Given the description of an element on the screen output the (x, y) to click on. 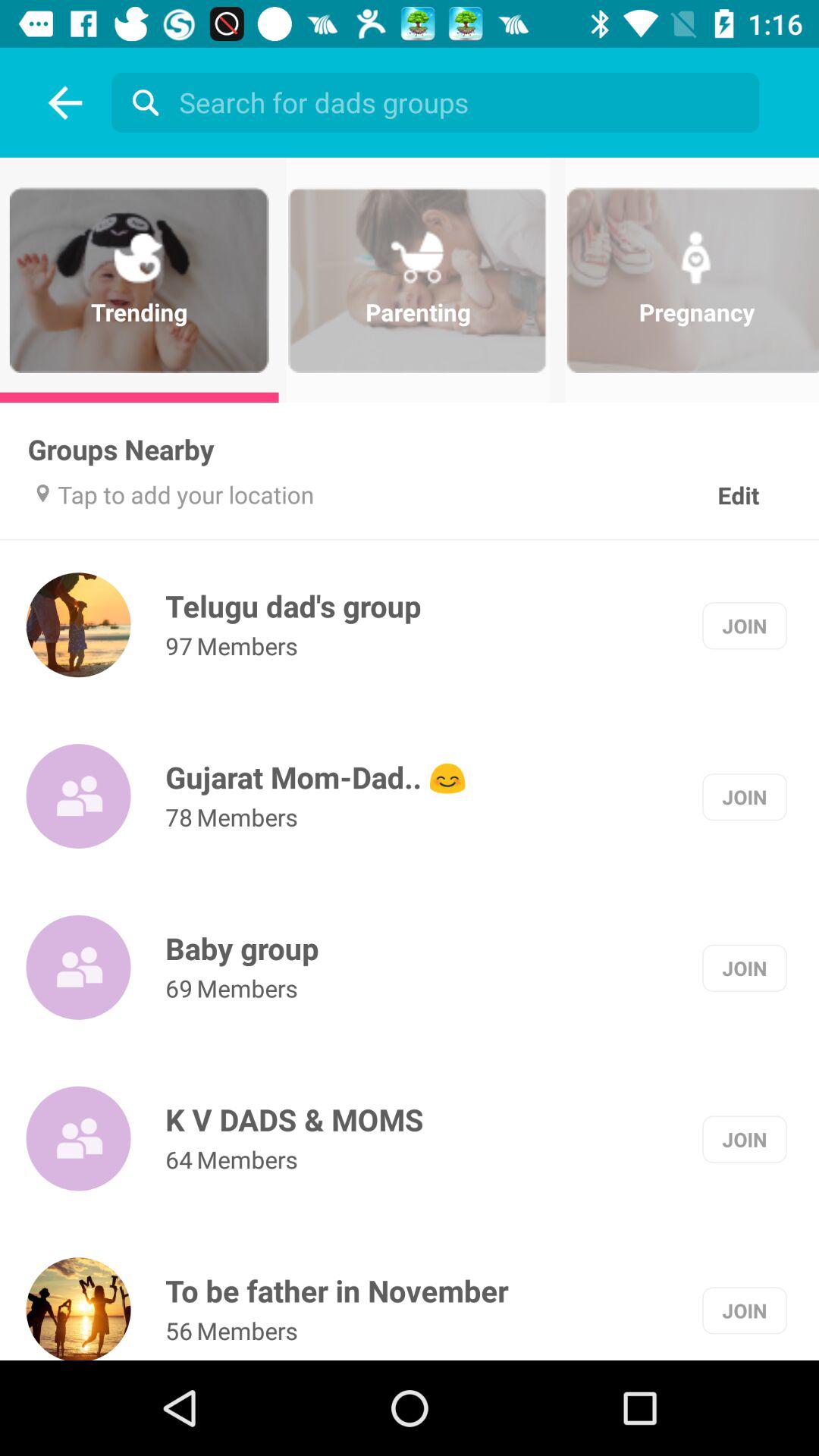
tap item below 78 item (242, 948)
